Given the description of an element on the screen output the (x, y) to click on. 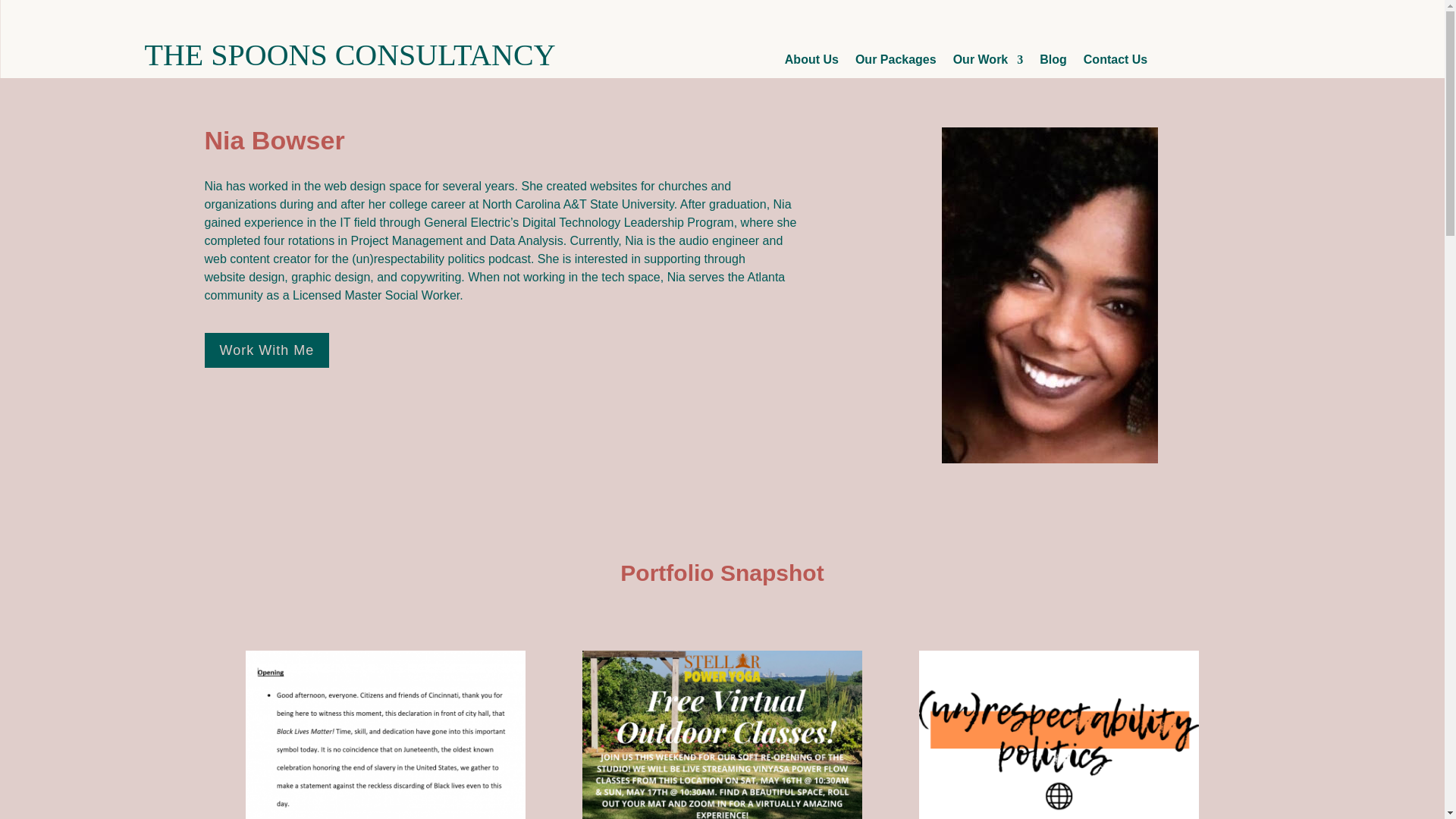
About Us (811, 63)
Our Packages (896, 63)
Contact Us (1115, 63)
Our Work (988, 63)
Blog (1053, 63)
Work With Me (267, 349)
